Given the description of an element on the screen output the (x, y) to click on. 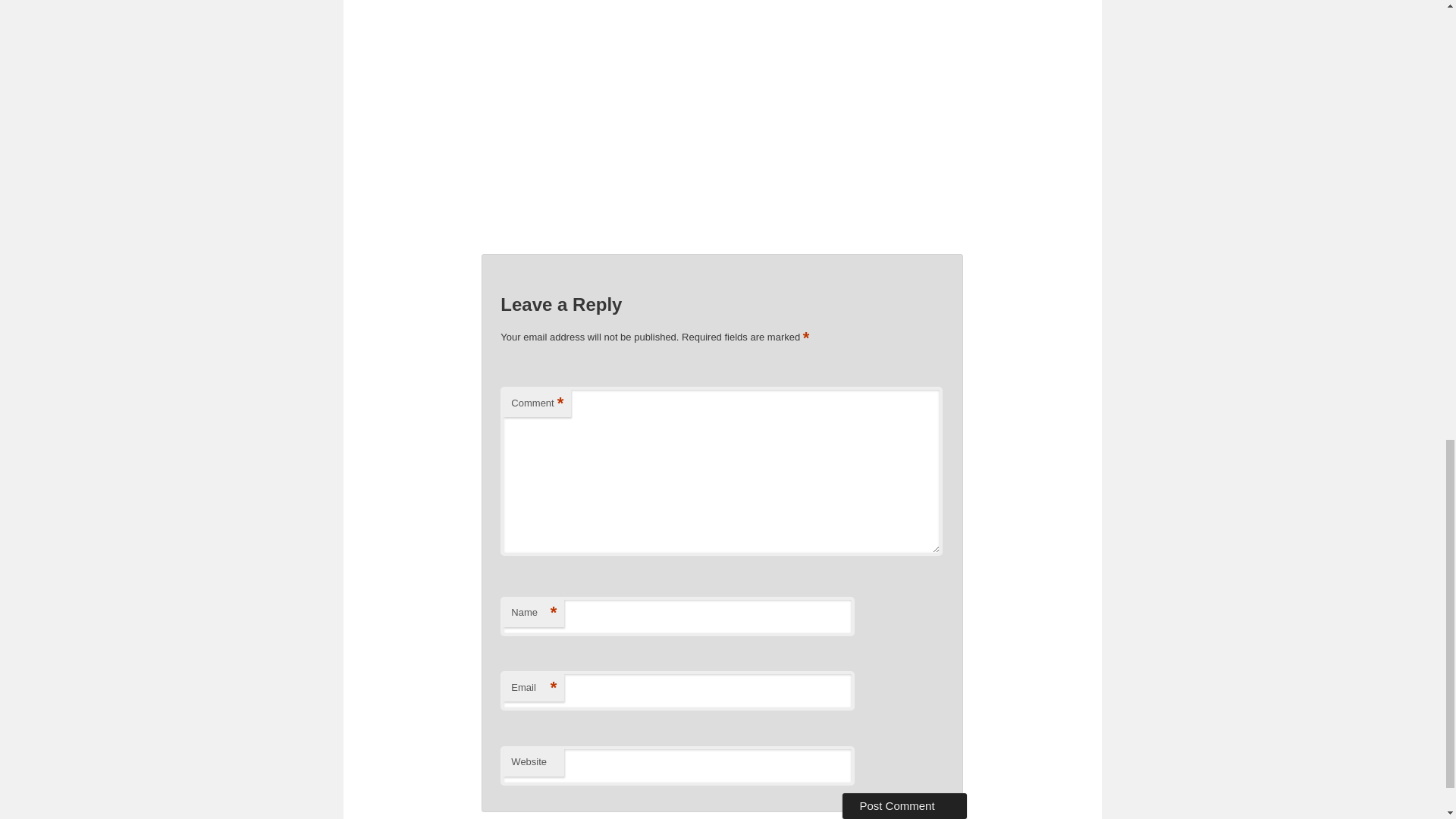
Facebook (729, 273)
YouTube (786, 273)
Twitter (757, 273)
Pinterest (815, 273)
INSTAGRAM (844, 273)
Vimeo (873, 273)
